Given the description of an element on the screen output the (x, y) to click on. 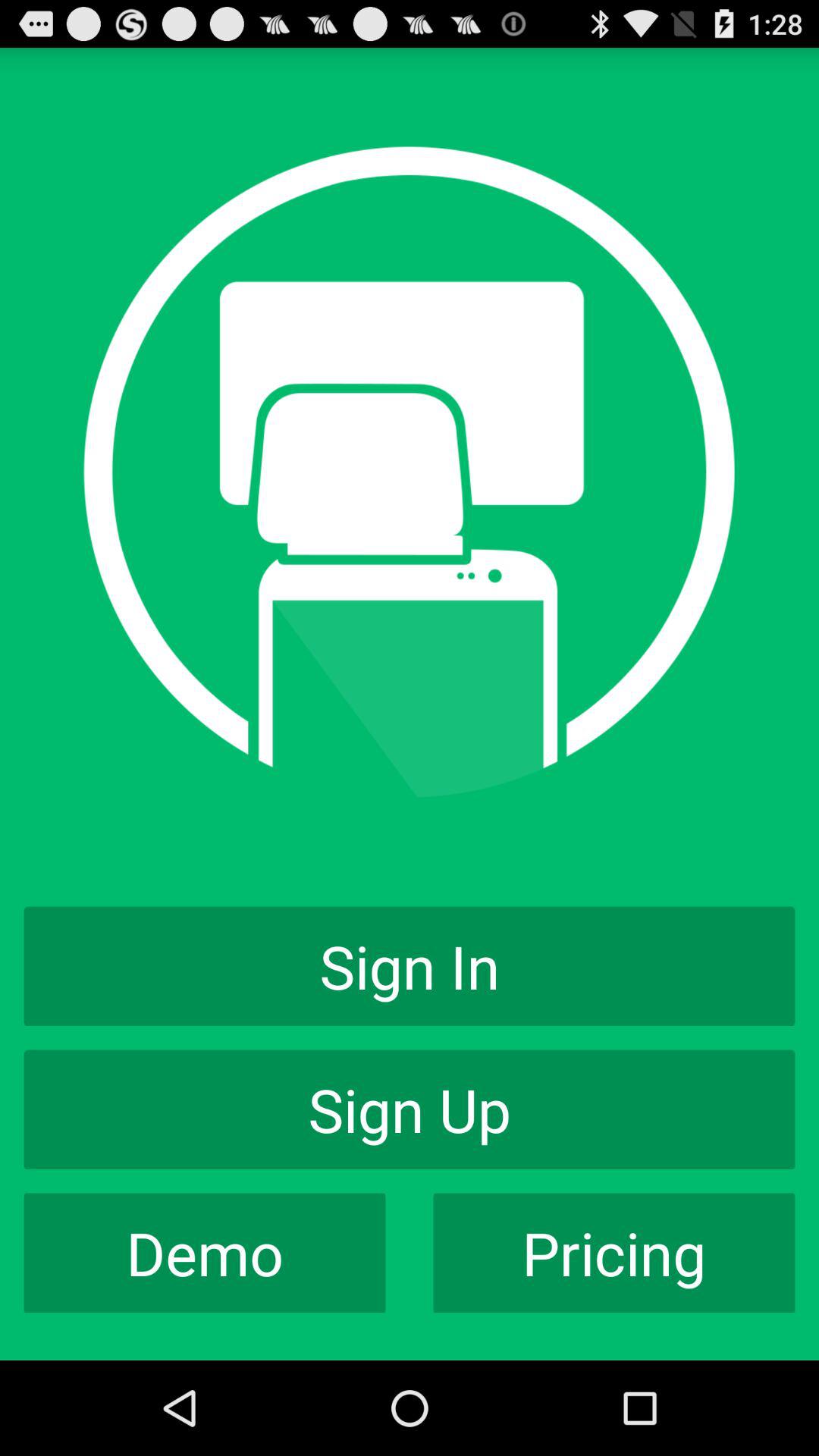
click the icon below sign up item (204, 1252)
